Given the description of an element on the screen output the (x, y) to click on. 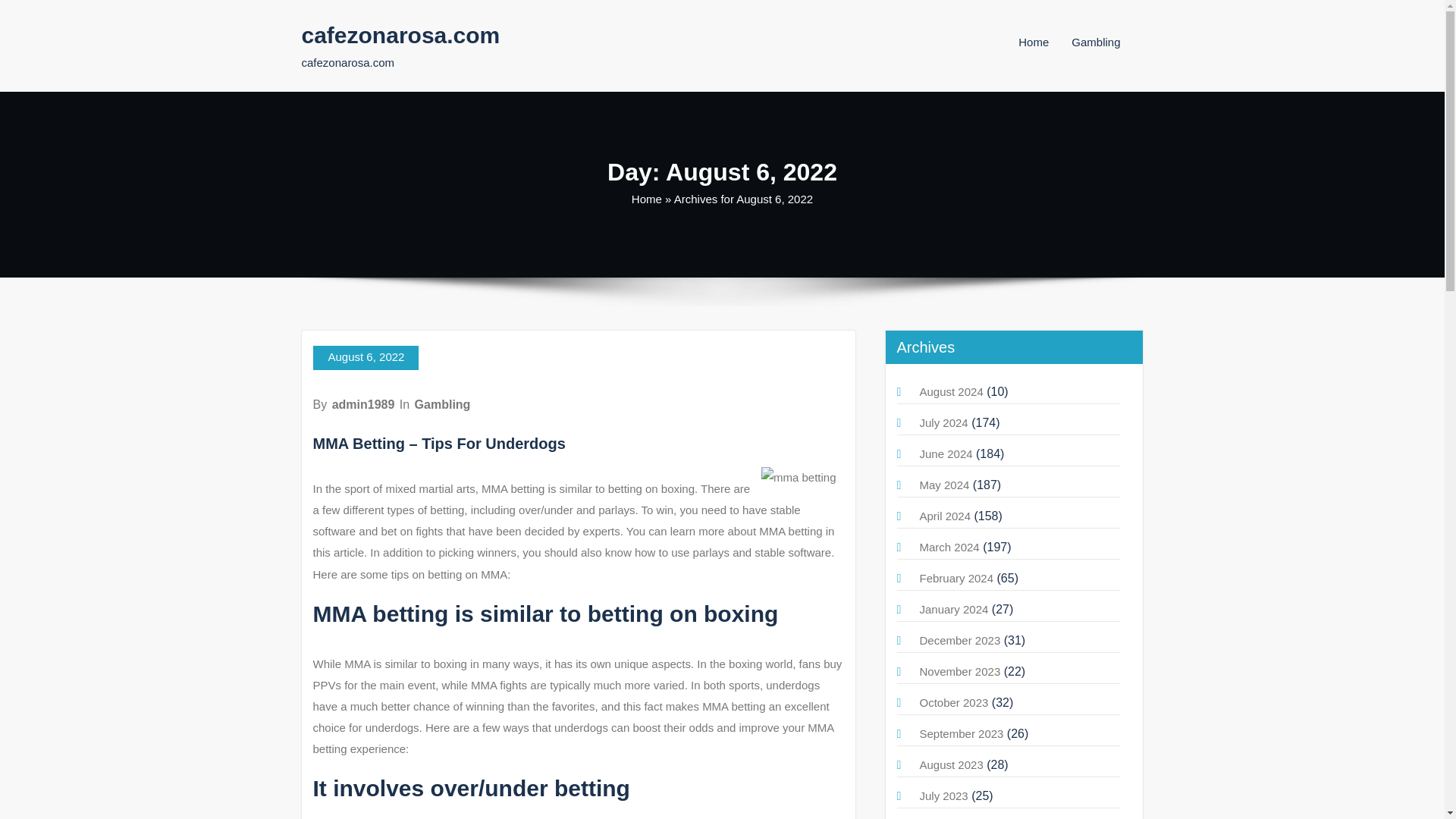
September 2023 (960, 733)
December 2023 (959, 640)
August 2024 (950, 391)
August 6, 2022 (366, 357)
August 2023 (950, 764)
Gambling (442, 404)
January 2024 (953, 608)
October 2023 (953, 702)
cafezonarosa.com (400, 34)
February 2024 (955, 577)
